Given the description of an element on the screen output the (x, y) to click on. 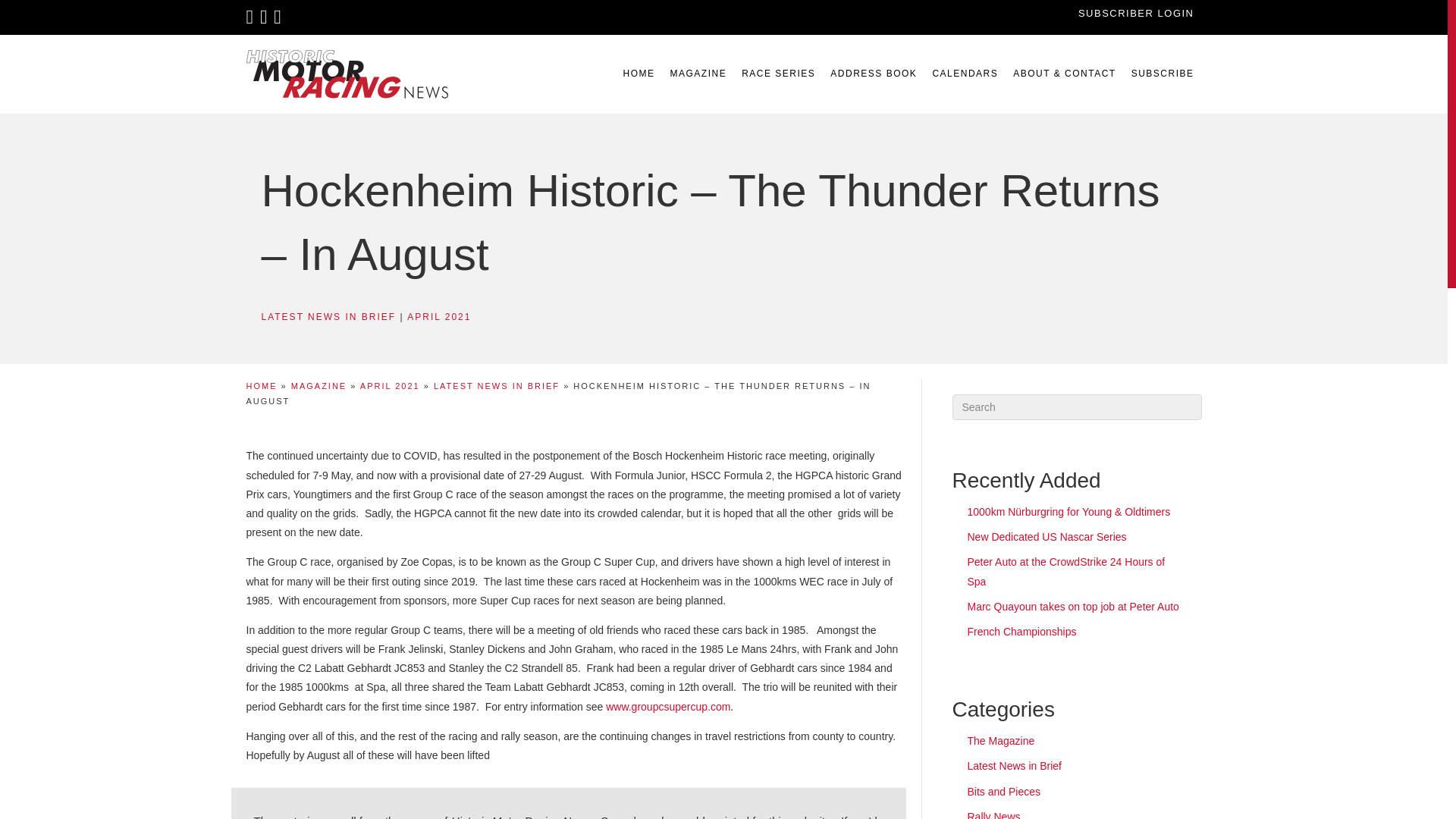
SUBSCRIBE (1163, 74)
ADDRESS BOOK (873, 74)
MAGAZINE (697, 74)
Bits and Pieces (1004, 791)
www.groupcsupercup.com (667, 706)
LATEST NEWS IN BRIEF (328, 317)
SUBSCRIBER LOGIN (1135, 12)
Marc Quayoun takes on top job at Peter Auto (1073, 606)
RACE SERIES (777, 74)
HOME (638, 74)
